Given the description of an element on the screen output the (x, y) to click on. 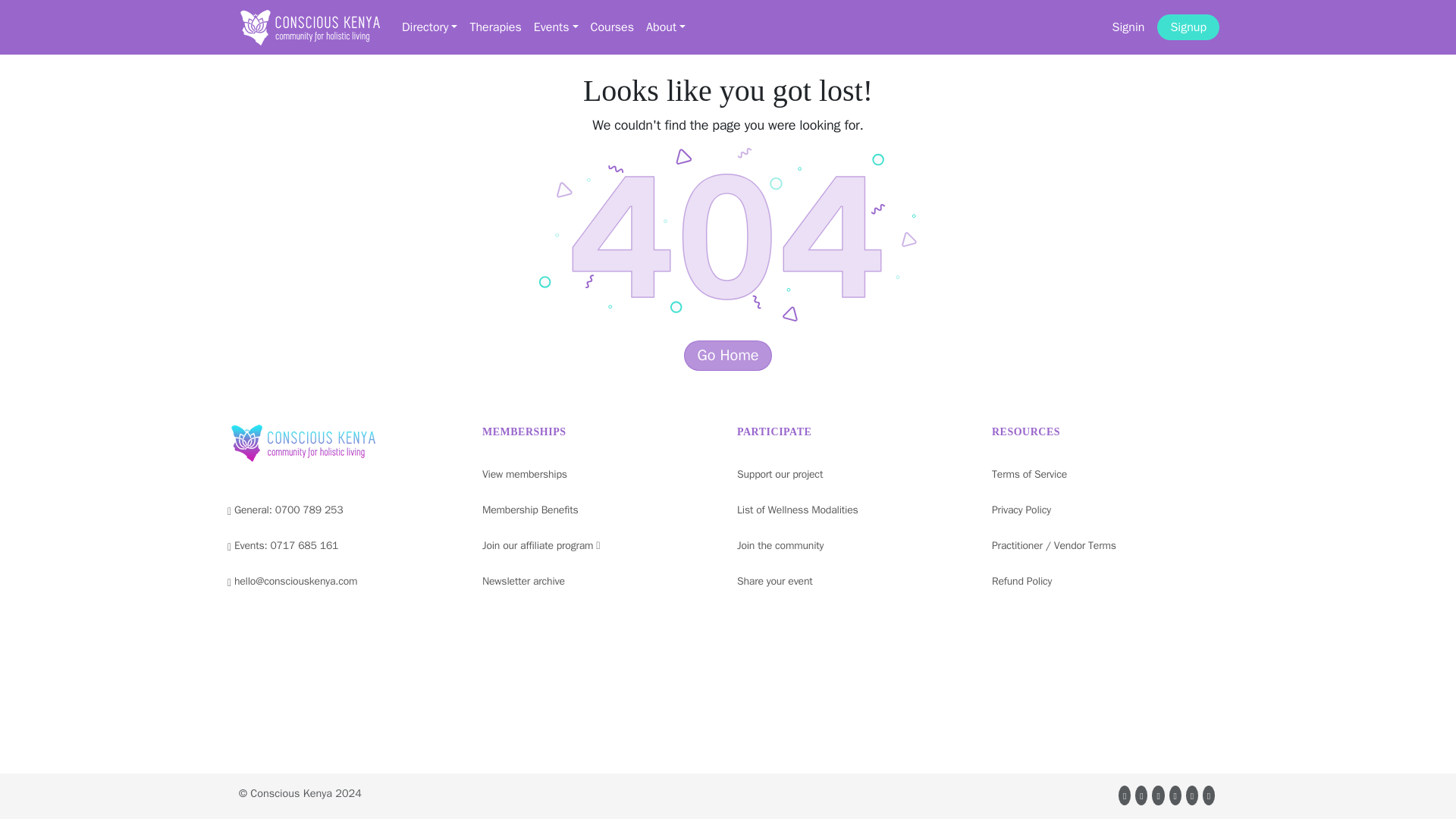
General: 0700 789 253 (284, 509)
Privacy Policy (1021, 509)
Events (556, 27)
View memberships (524, 474)
Directory (429, 27)
Go Home (727, 355)
List of Wellness Modalities (797, 509)
Events: 0717 685 161 (282, 545)
Support our project (779, 474)
Signup (1188, 27)
Refund Policy (1021, 580)
Newsletter archive (522, 580)
Courses (612, 27)
Signin (1128, 27)
Terms of Service (1029, 474)
